Given the description of an element on the screen output the (x, y) to click on. 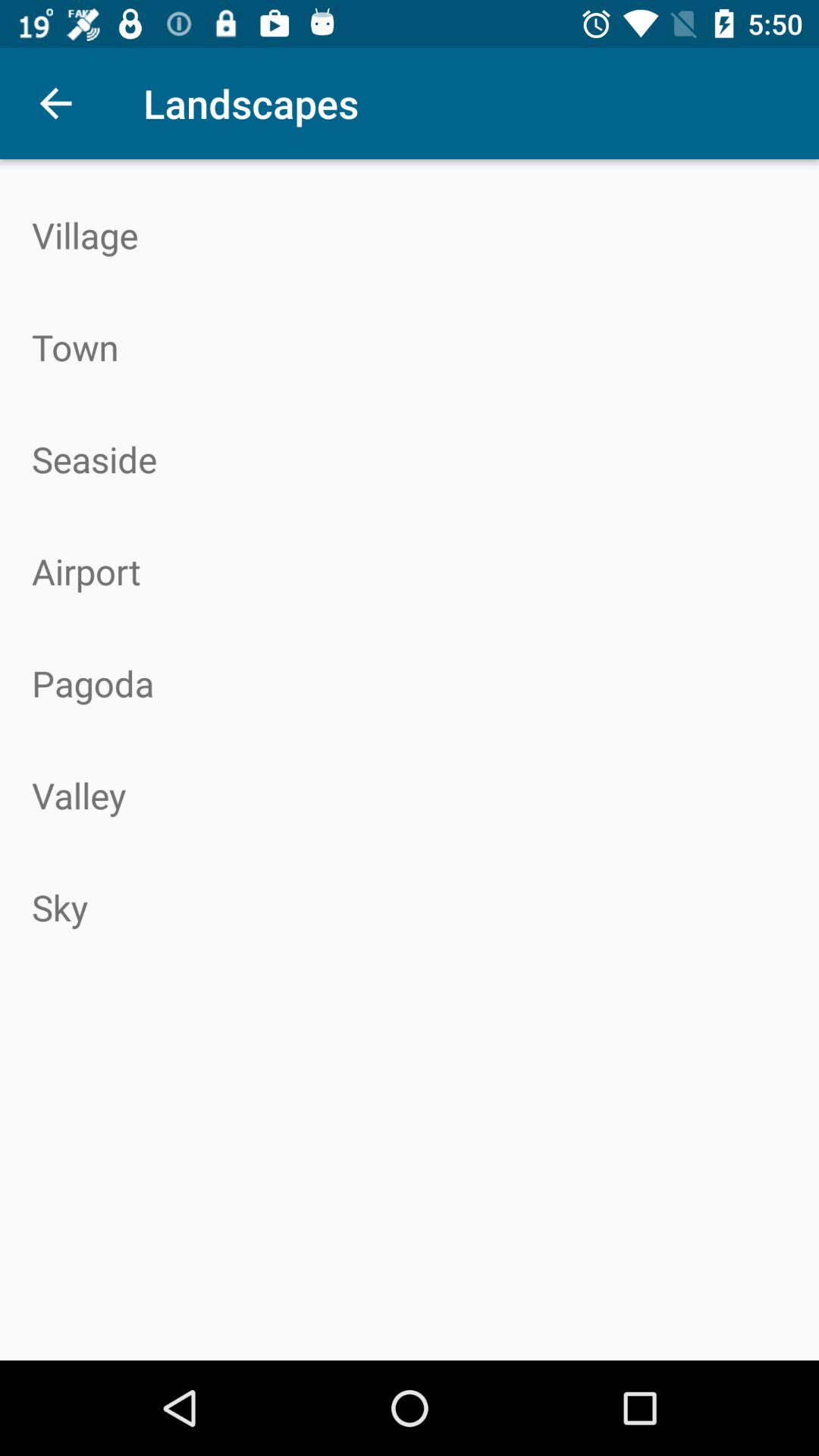
click the airport icon (409, 571)
